Given the description of an element on the screen output the (x, y) to click on. 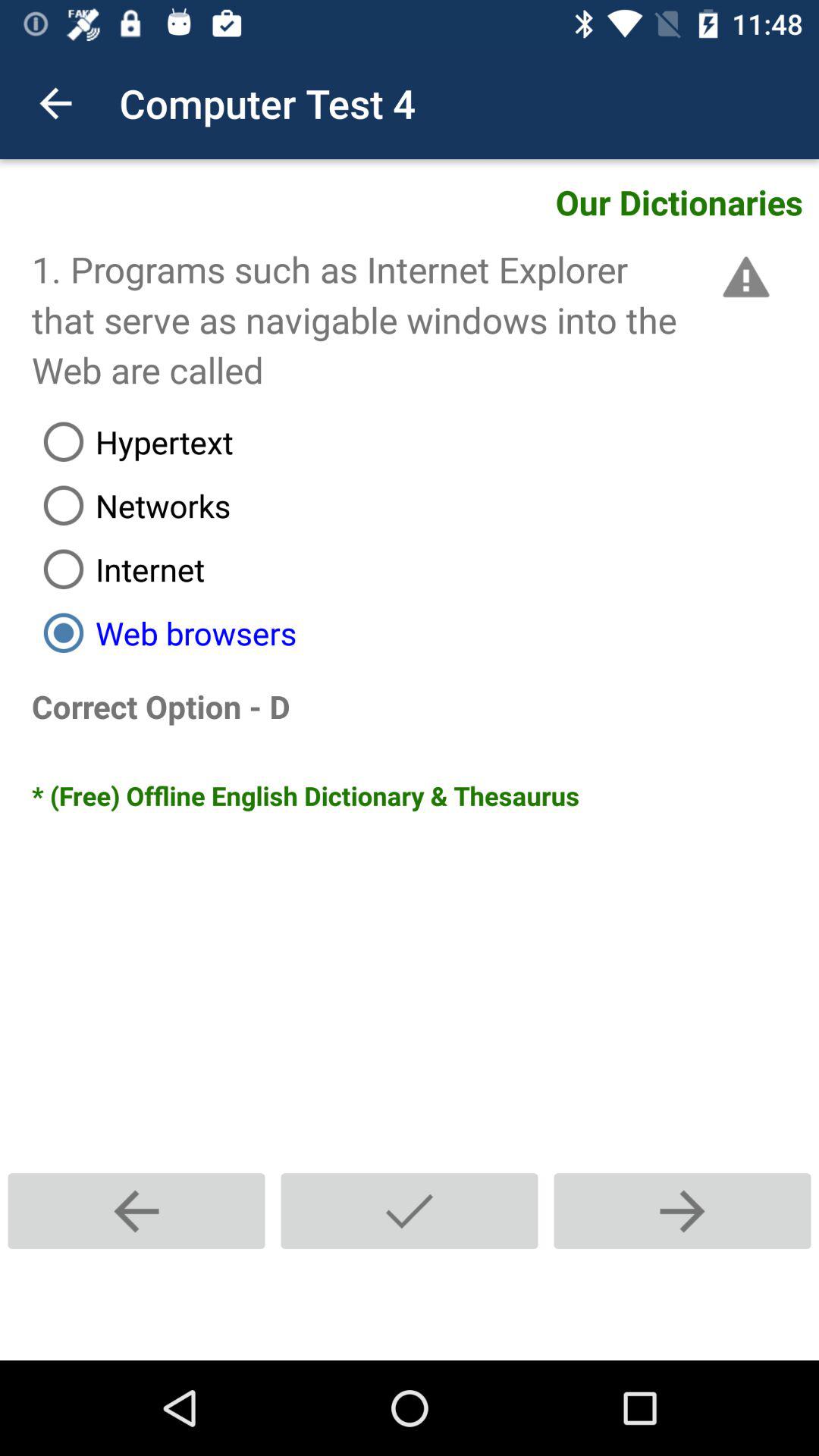
choose app next to computer test 4 (55, 103)
